Given the description of an element on the screen output the (x, y) to click on. 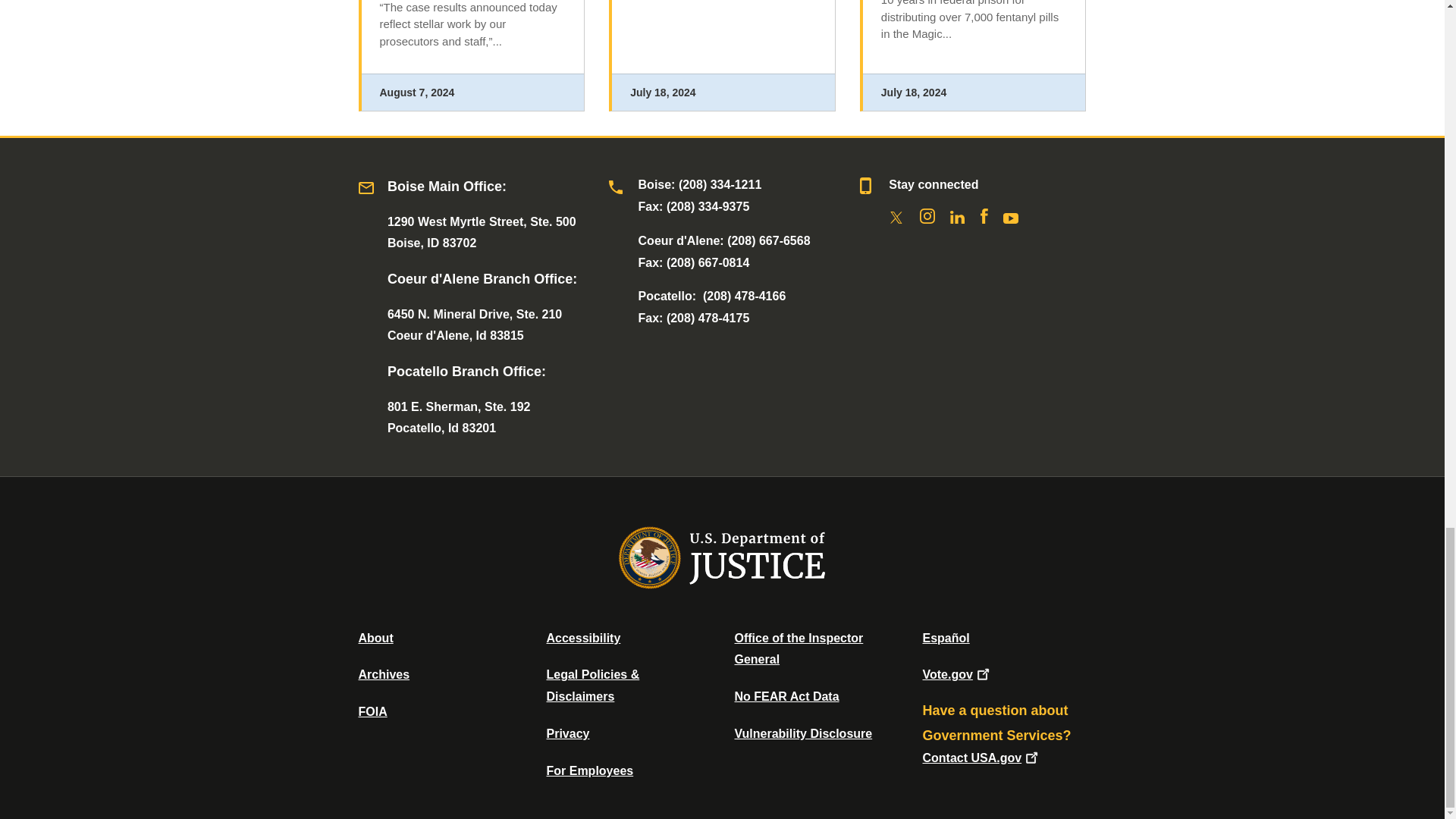
Legal Policies and Disclaimers (592, 685)
About DOJ (375, 637)
For Employees (589, 770)
Office of Information Policy (372, 711)
Data Posted Pursuant To The No Fear Act (785, 696)
Accessibility Statement (583, 637)
Department of Justice Archive (383, 674)
